Given the description of an element on the screen output the (x, y) to click on. 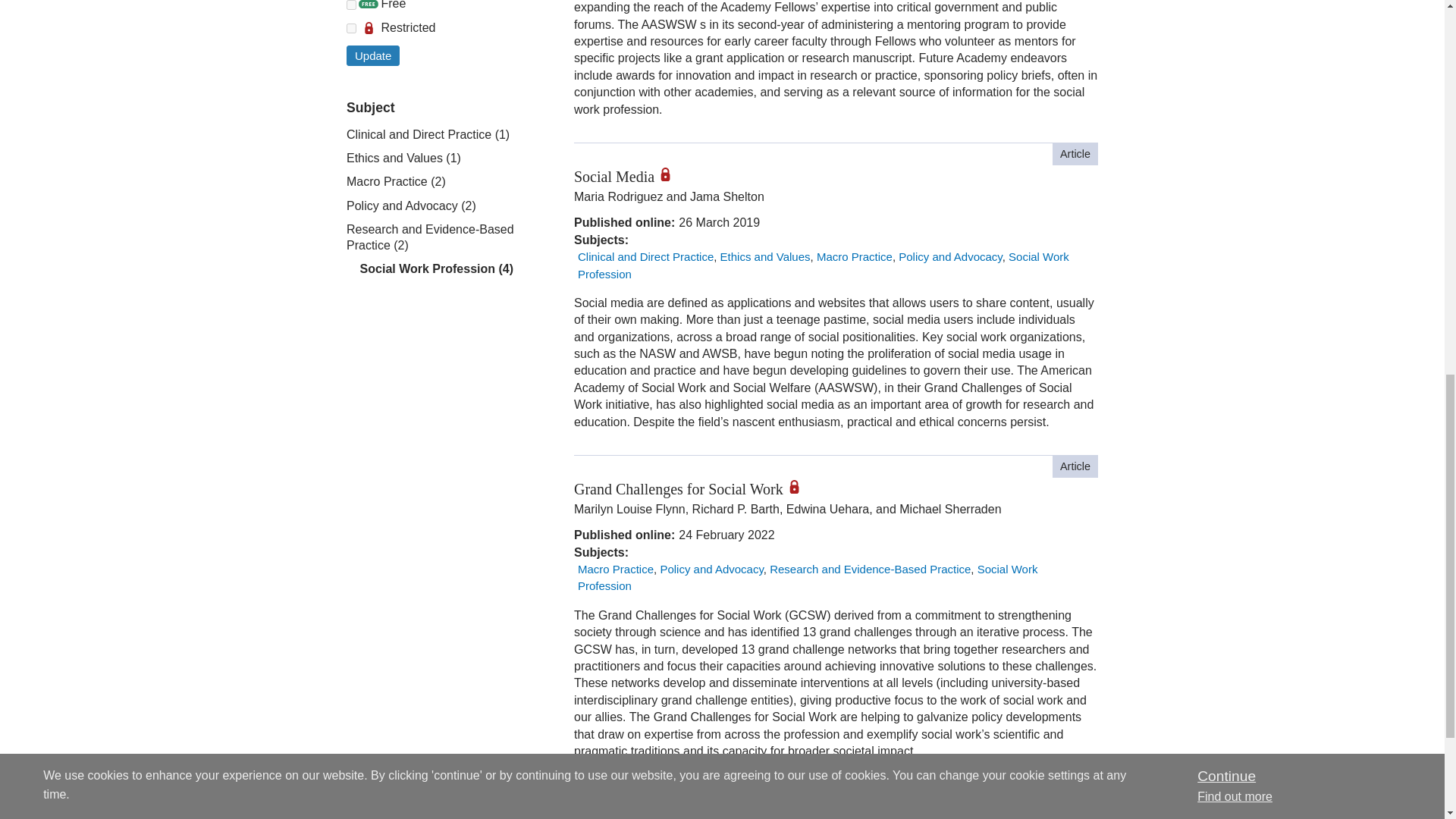
free (351, 4)
locked (351, 28)
